Given the description of an element on the screen output the (x, y) to click on. 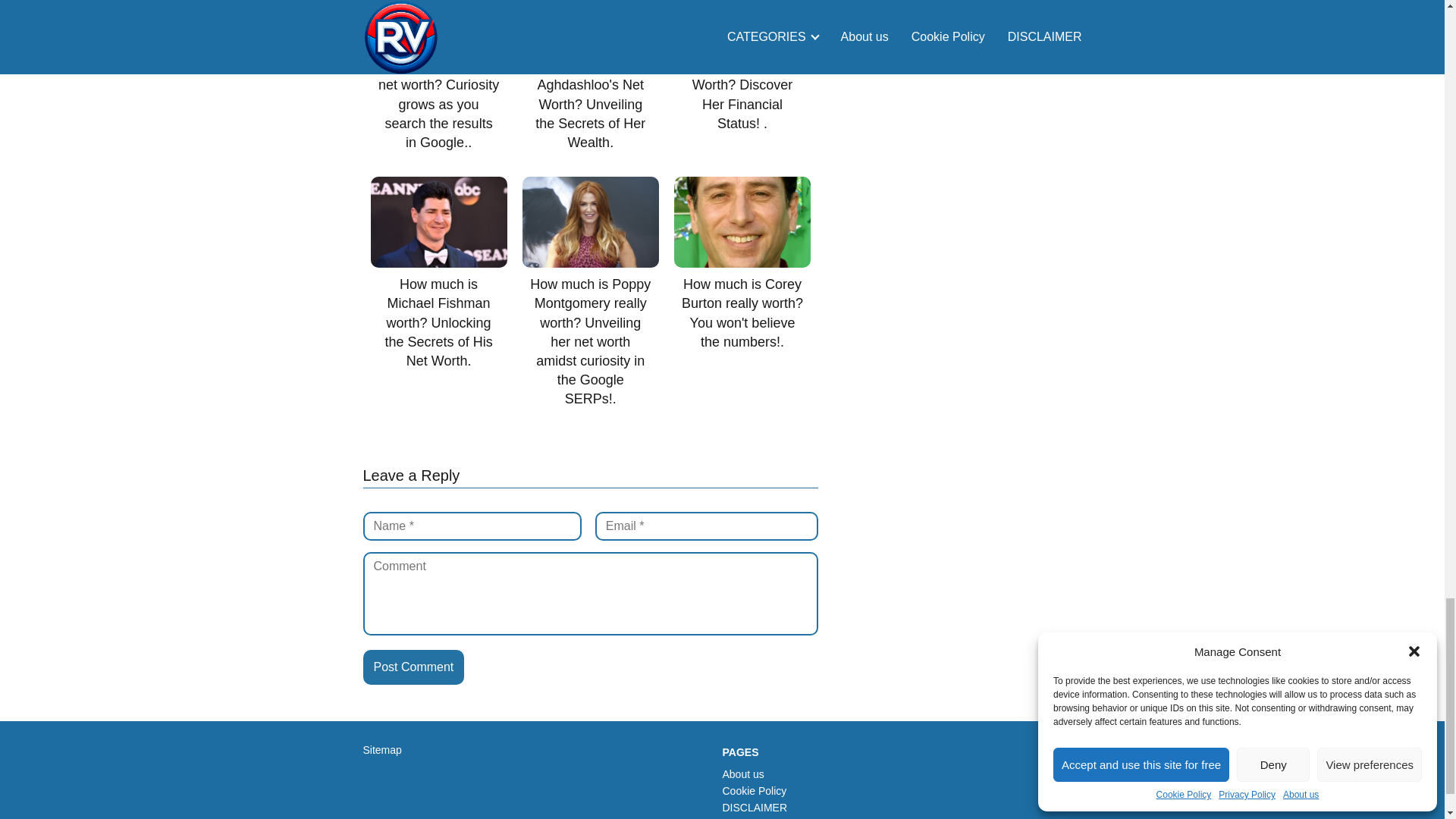
Post Comment (413, 667)
